Given the description of an element on the screen output the (x, y) to click on. 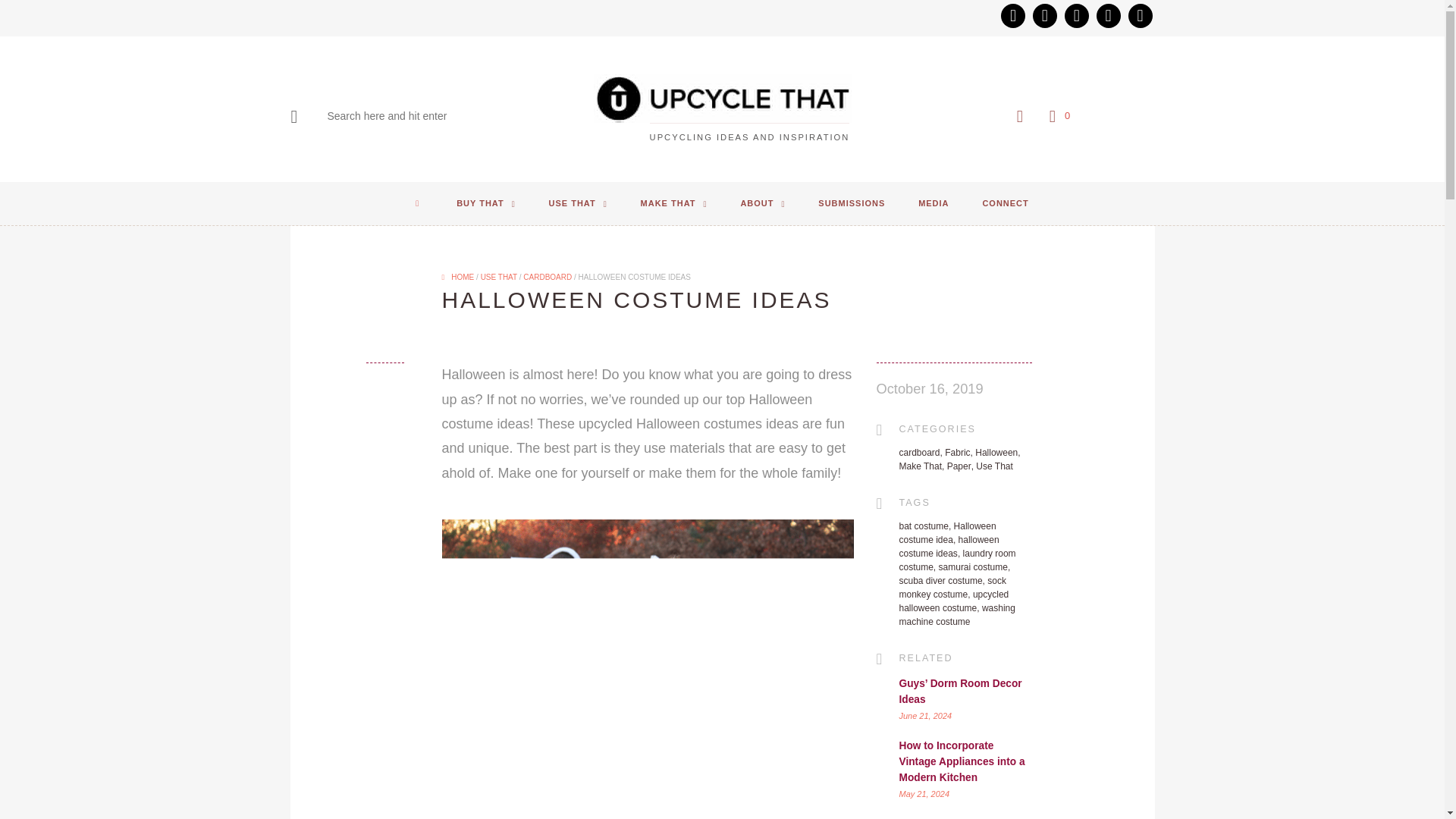
USE THAT (578, 203)
ABOUT (762, 203)
0 (1057, 116)
Wednesday, October 16th, 2019, 2:30 pm (930, 389)
Search for: (402, 116)
MAKE THAT (674, 203)
BUY THAT (486, 203)
Friday, June 21st, 2024, 4:46 pm (925, 715)
Tuesday, May 21st, 2024, 6:13 pm (924, 793)
